Given the description of an element on the screen output the (x, y) to click on. 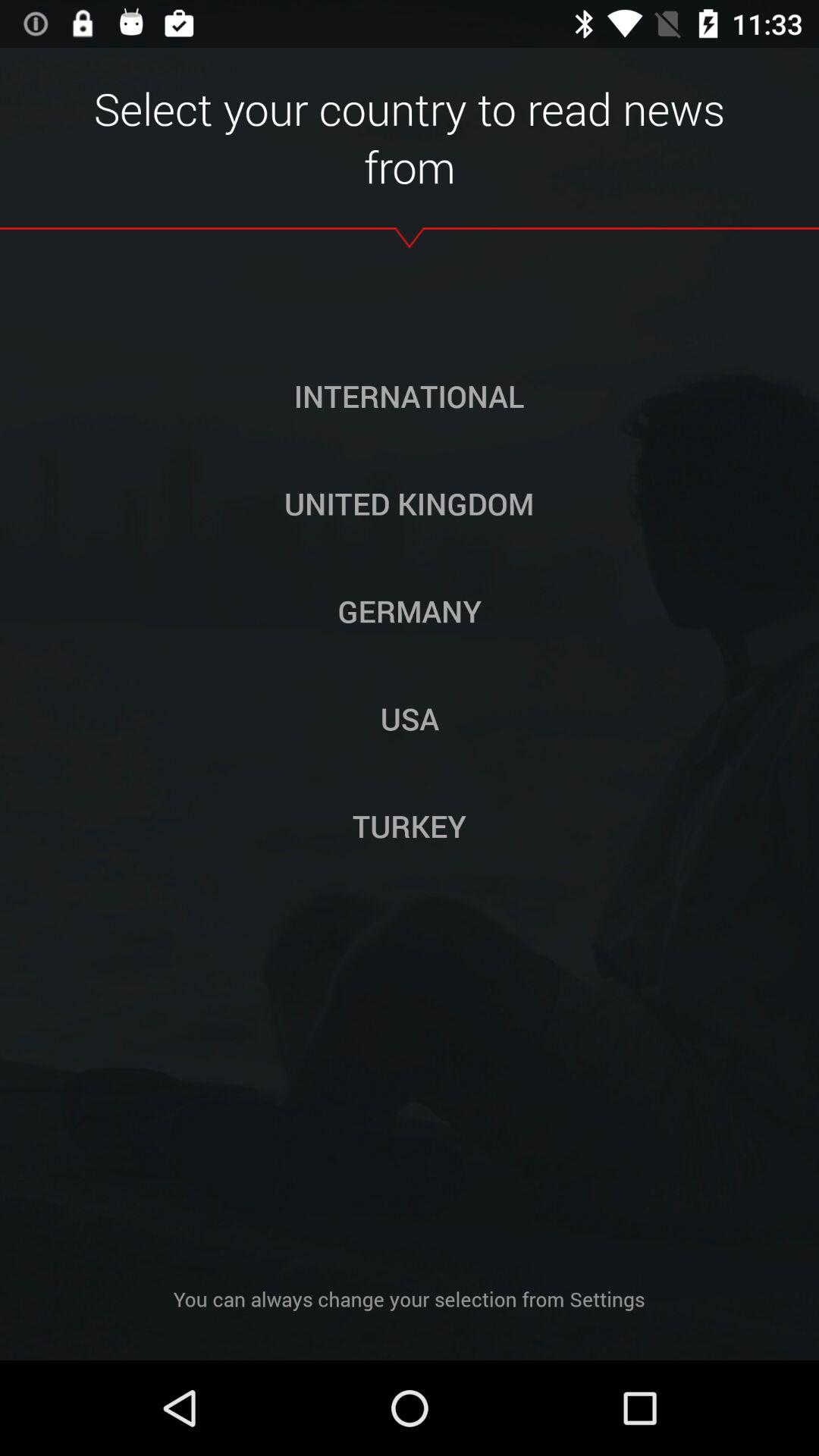
turn off icon below the germany icon (409, 718)
